Given the description of an element on the screen output the (x, y) to click on. 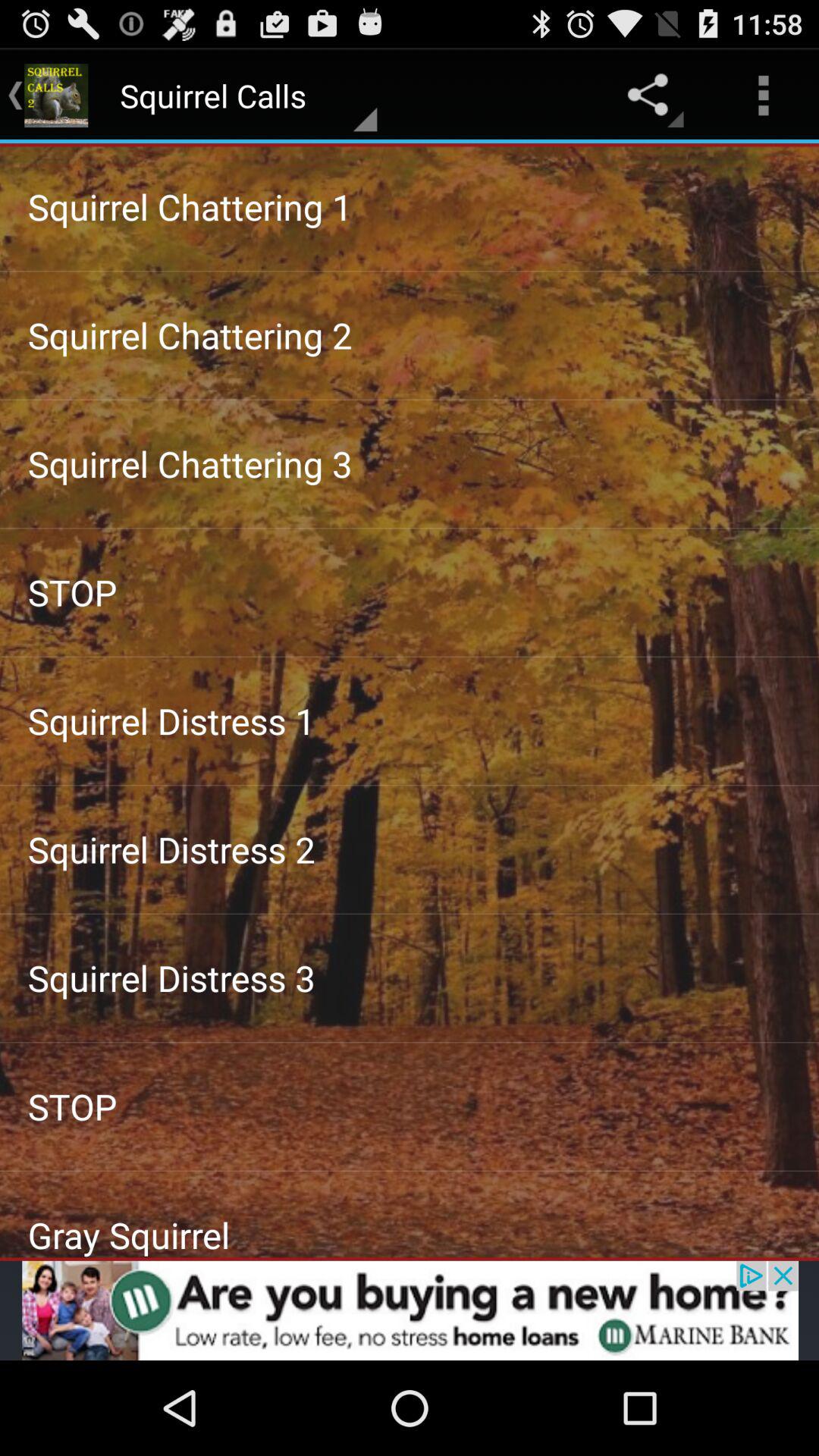
advertisement space (409, 1310)
